Given the description of an element on the screen output the (x, y) to click on. 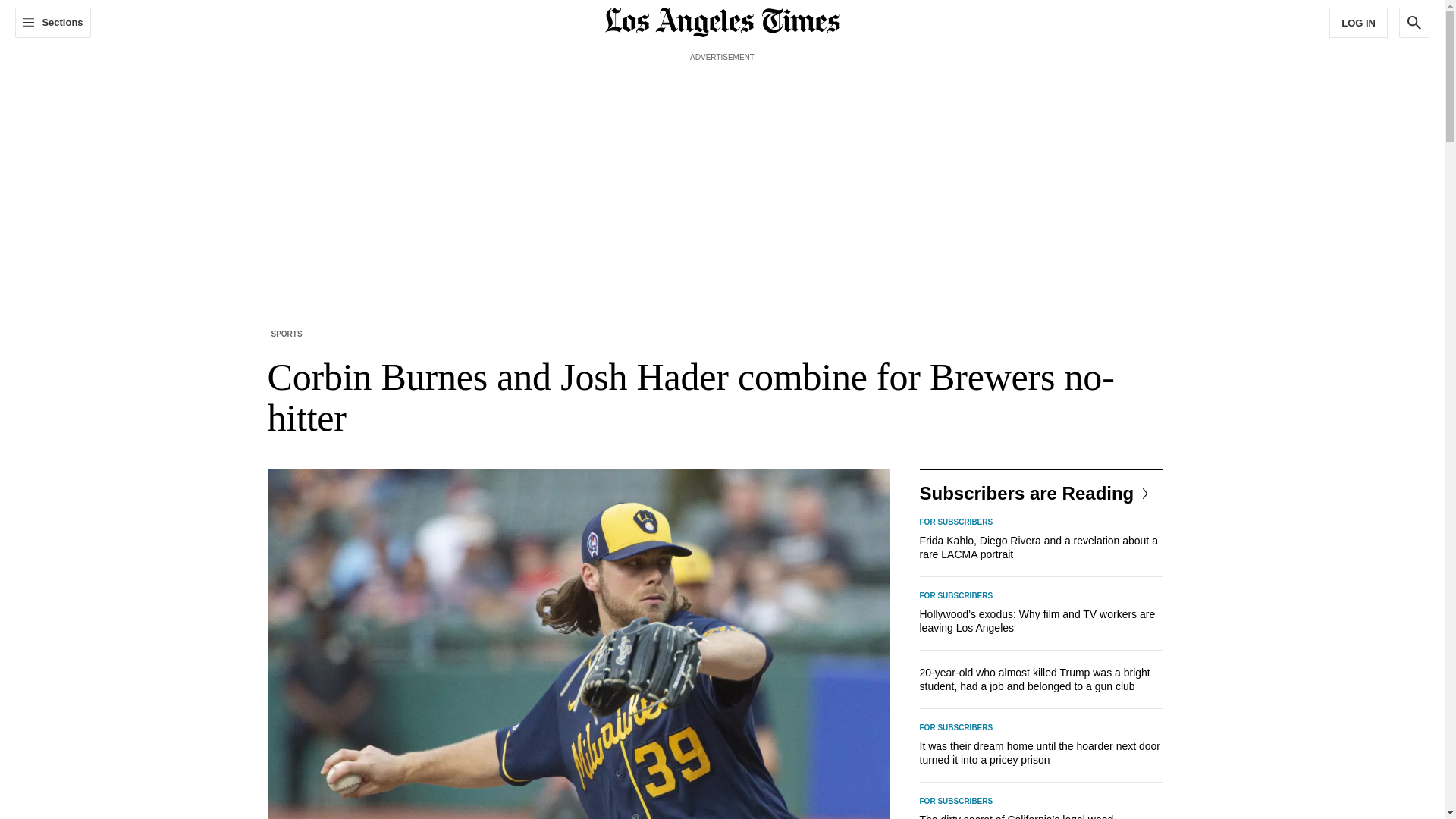
3rd party ad content (721, 100)
